Given the description of an element on the screen output the (x, y) to click on. 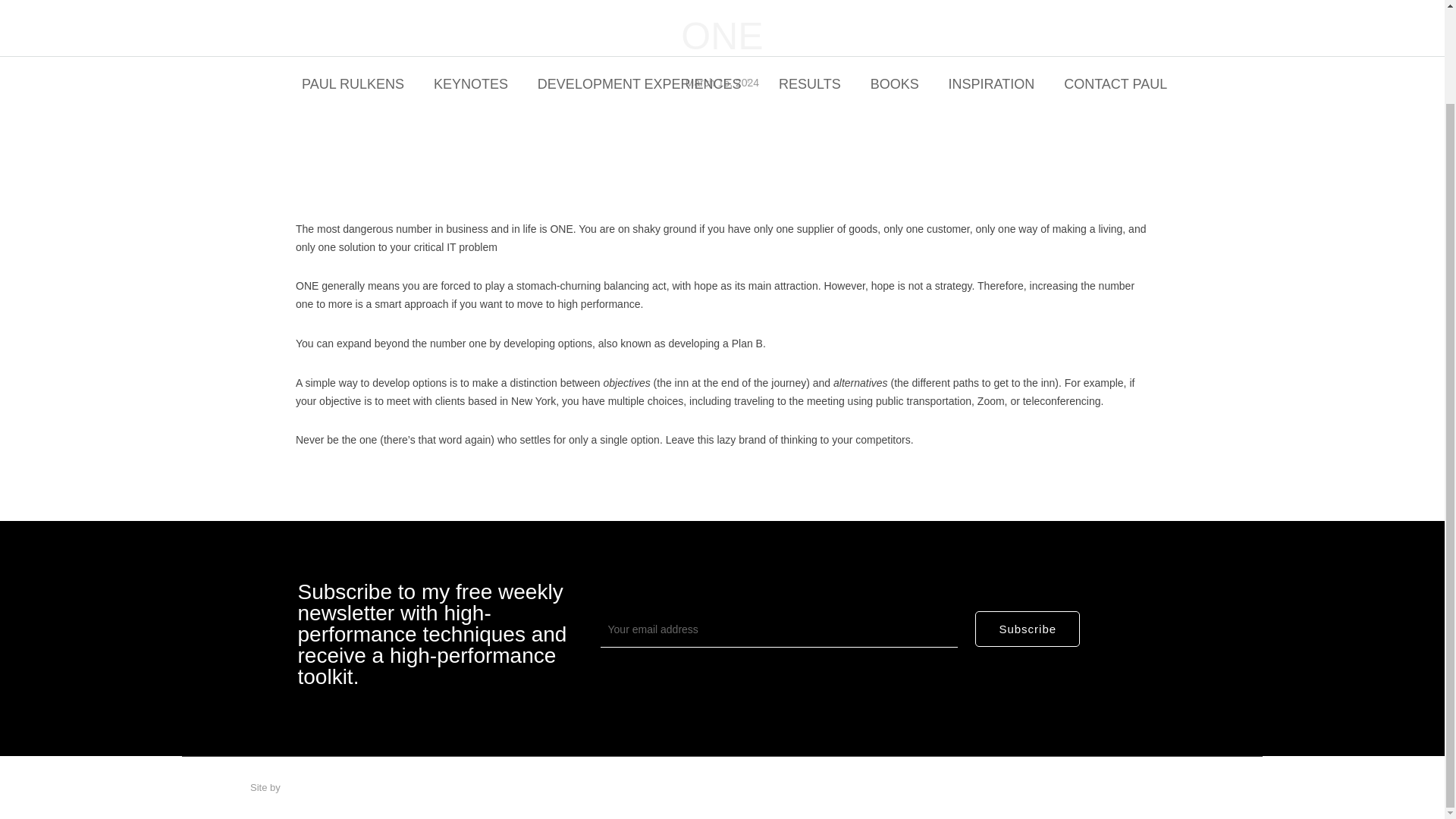
March 15, 2024 (721, 83)
Subscribe (1027, 628)
TheMavens (308, 787)
Subscribe (1027, 628)
